Given the description of an element on the screen output the (x, y) to click on. 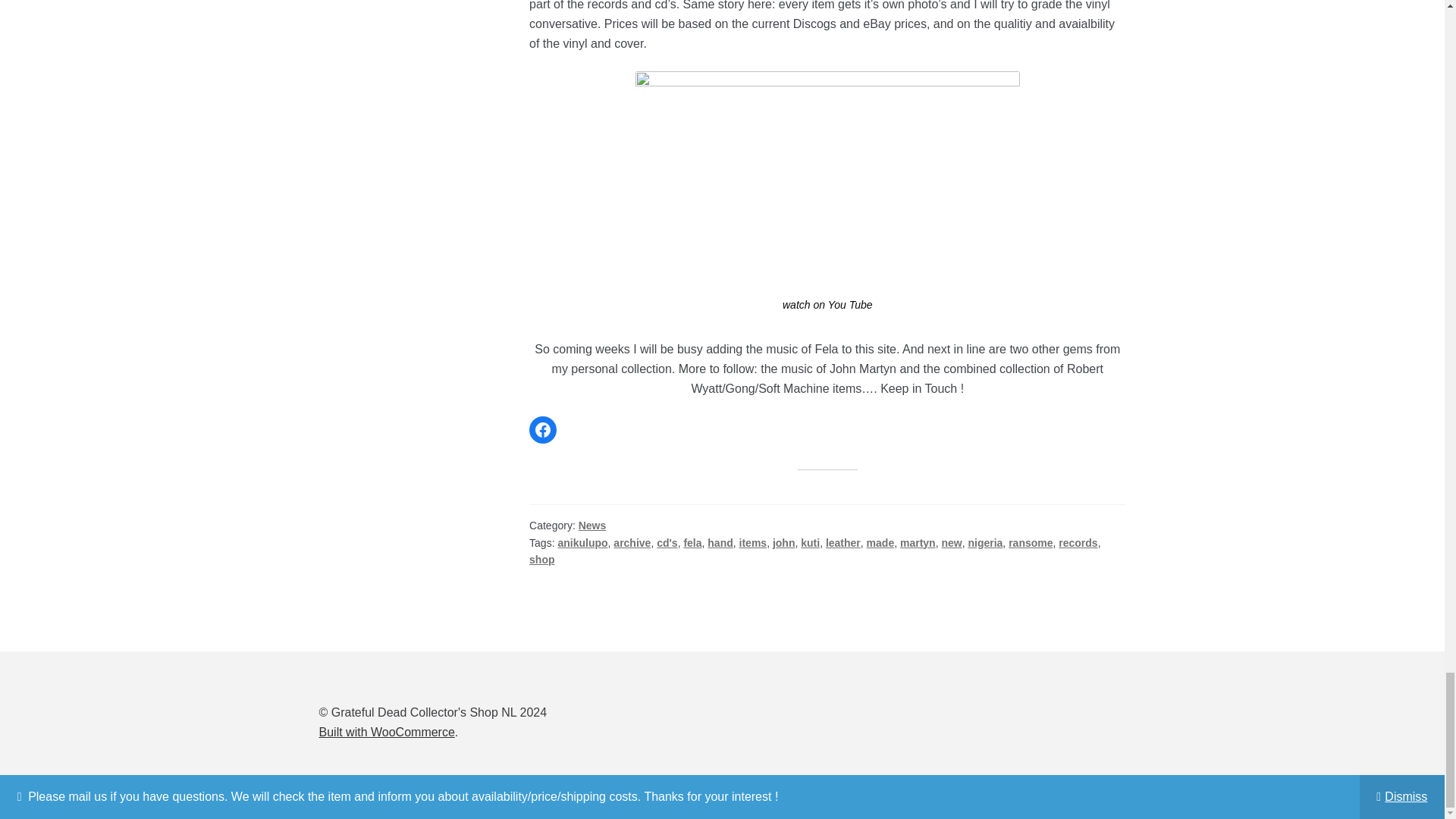
WooCommerce - The Best eCommerce Platform for WordPress (386, 731)
